Given the description of an element on the screen output the (x, y) to click on. 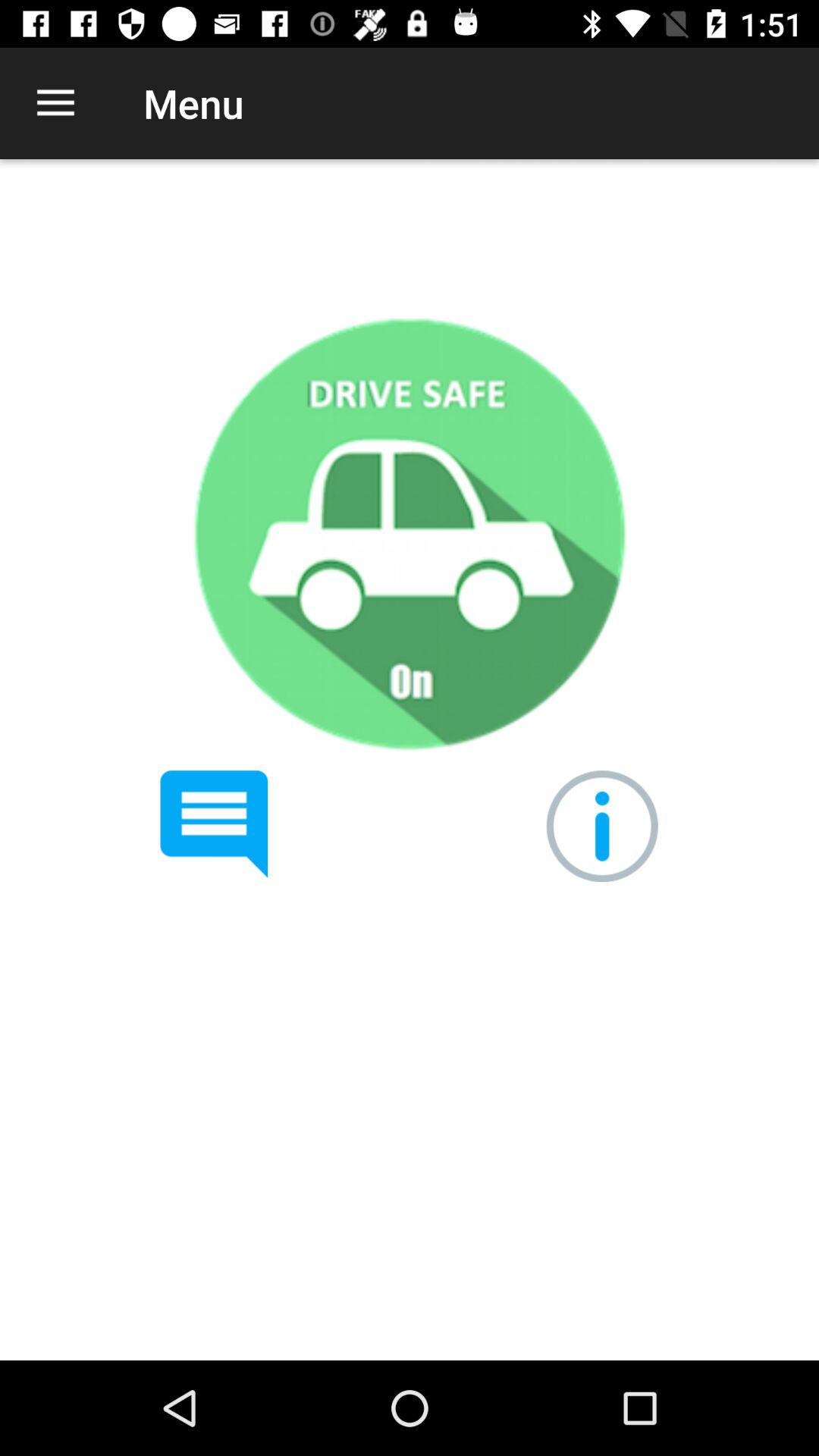
select item below the menu icon (409, 533)
